Given the description of an element on the screen output the (x, y) to click on. 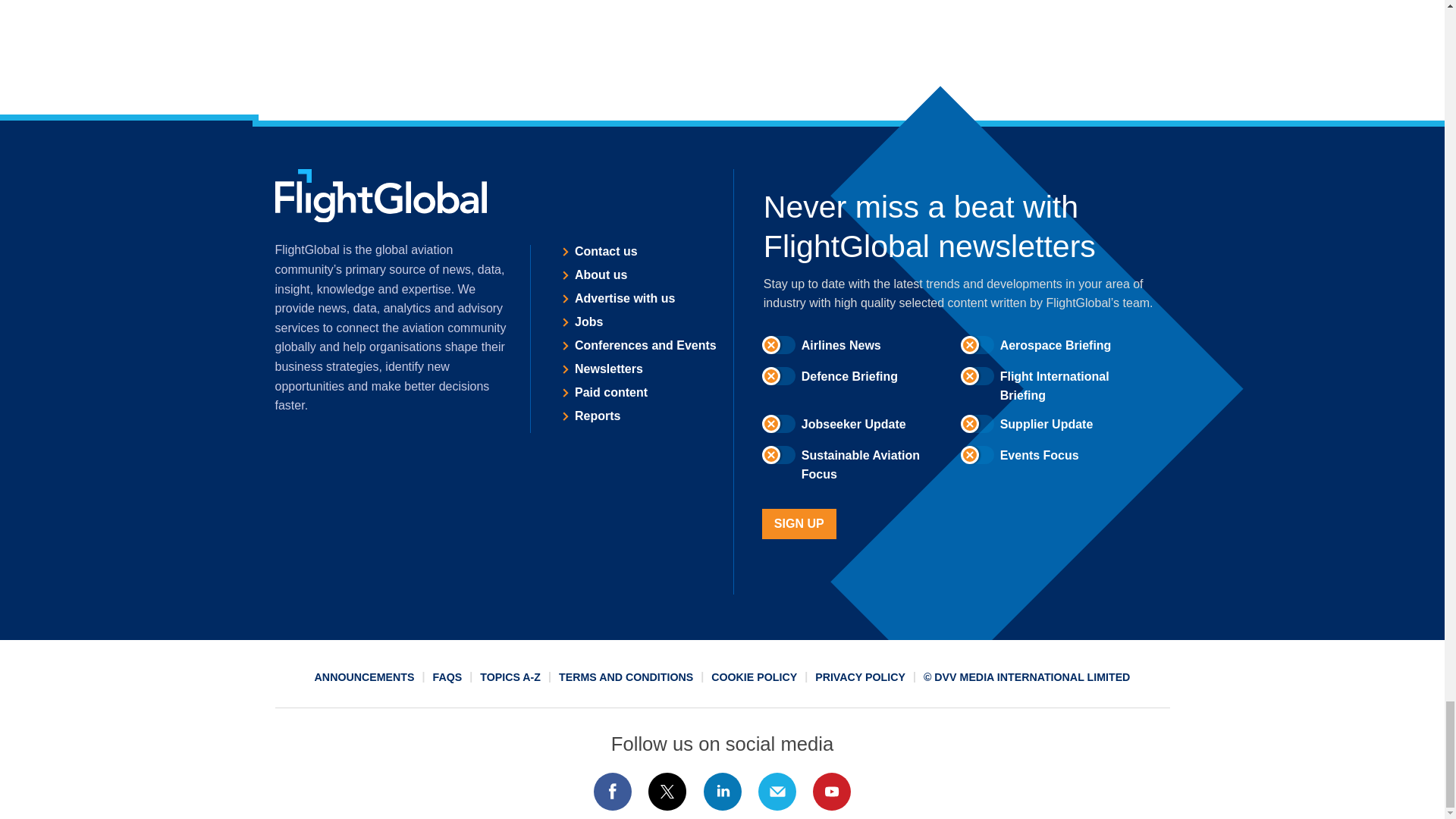
Email us (776, 791)
Connect with us on Twitter (667, 791)
Connect with us on Facebook (611, 791)
Connect with us on Linked In (721, 791)
